Given the description of an element on the screen output the (x, y) to click on. 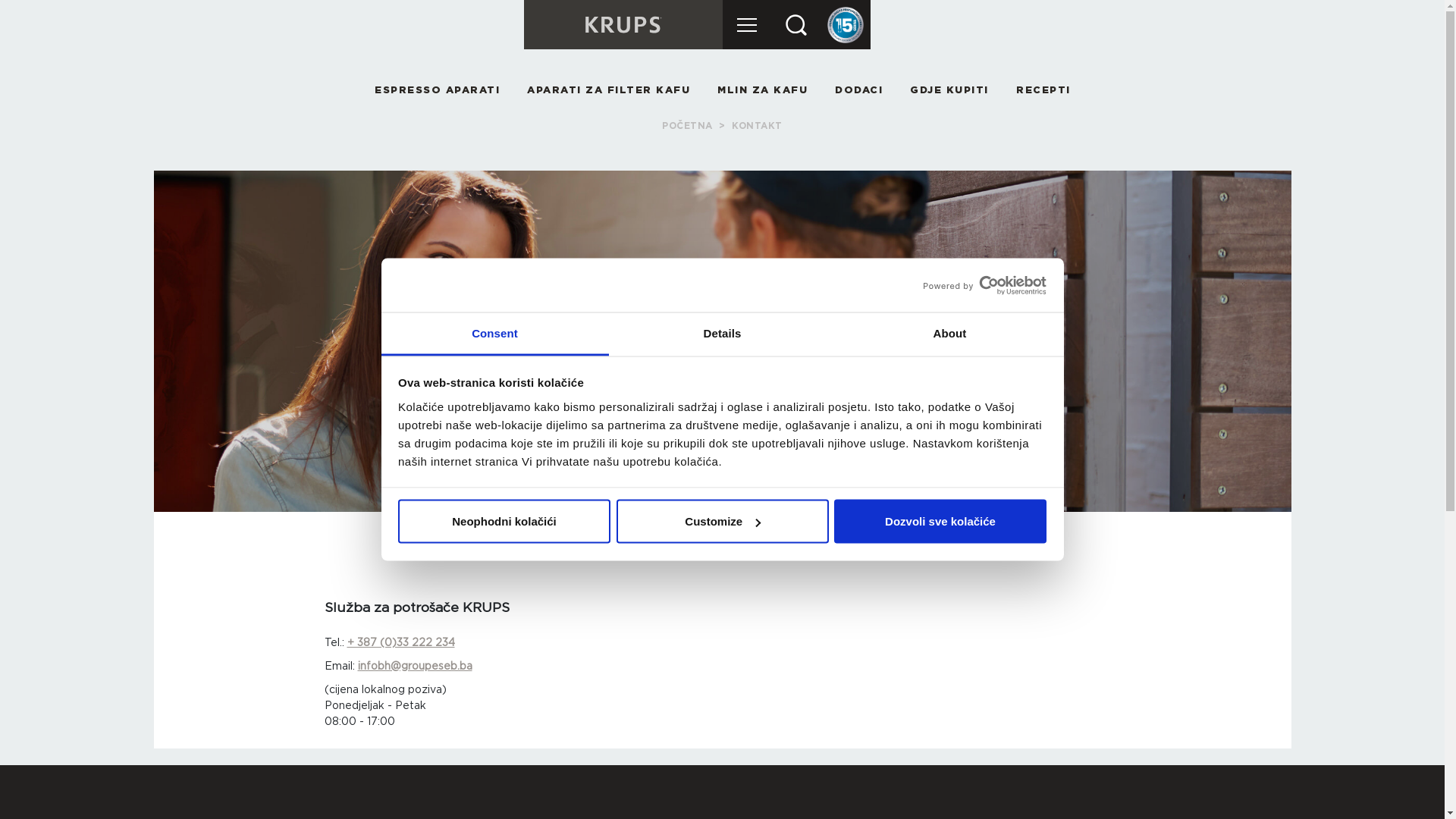
+ 387 (0)33 222 234 Element type: text (401, 642)
DODACI Element type: text (858, 90)
MLIN ZA KAFU Element type: text (762, 90)
Consent Element type: text (494, 333)
infobh@groupeseb.ba Element type: text (414, 665)
Details Element type: text (721, 333)
About Element type: text (949, 333)
Customize Element type: text (721, 521)
GDJE KUPITI Element type: text (949, 90)
APARATI ZA FILTER KAFU Element type: text (608, 90)
RECEPTI Element type: text (1043, 90)
ESPRESSO APARATI Element type: text (436, 90)
